Given the description of an element on the screen output the (x, y) to click on. 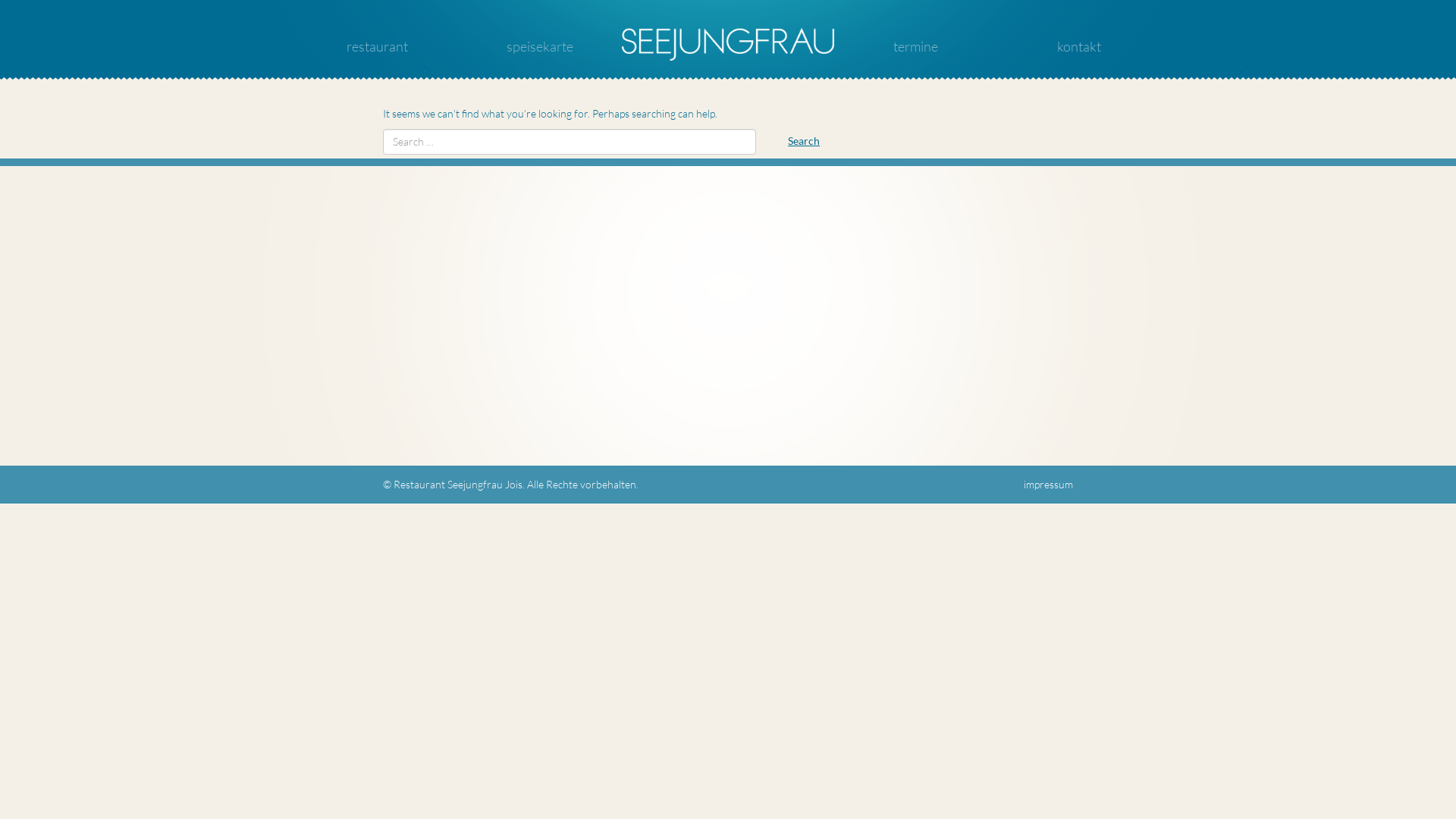
speisekarte Element type: text (539, 45)
Search Element type: text (803, 140)
impressum Element type: text (1048, 483)
termine Element type: text (915, 45)
kontakt Element type: text (1079, 45)
restaurant Element type: text (376, 45)
